Given the description of an element on the screen output the (x, y) to click on. 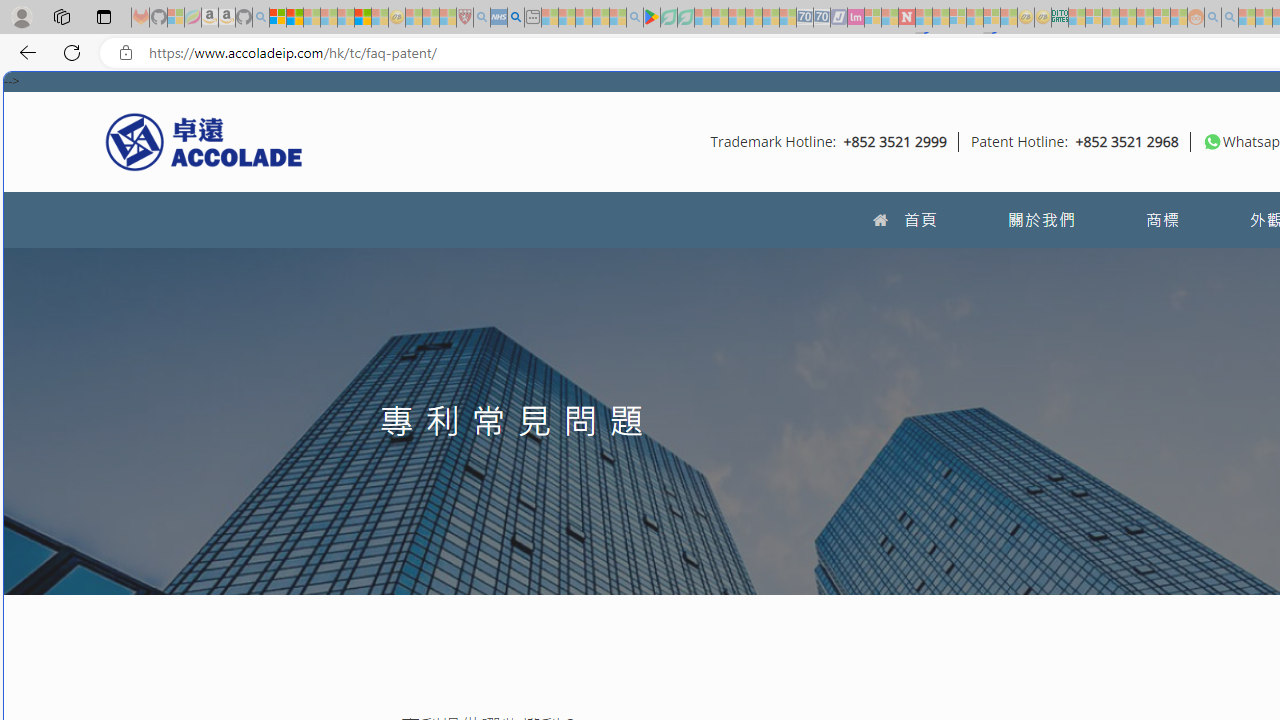
Pets - MSN - Sleeping (600, 17)
Bluey: Let's Play! - Apps on Google Play (651, 17)
